Given the description of an element on the screen output the (x, y) to click on. 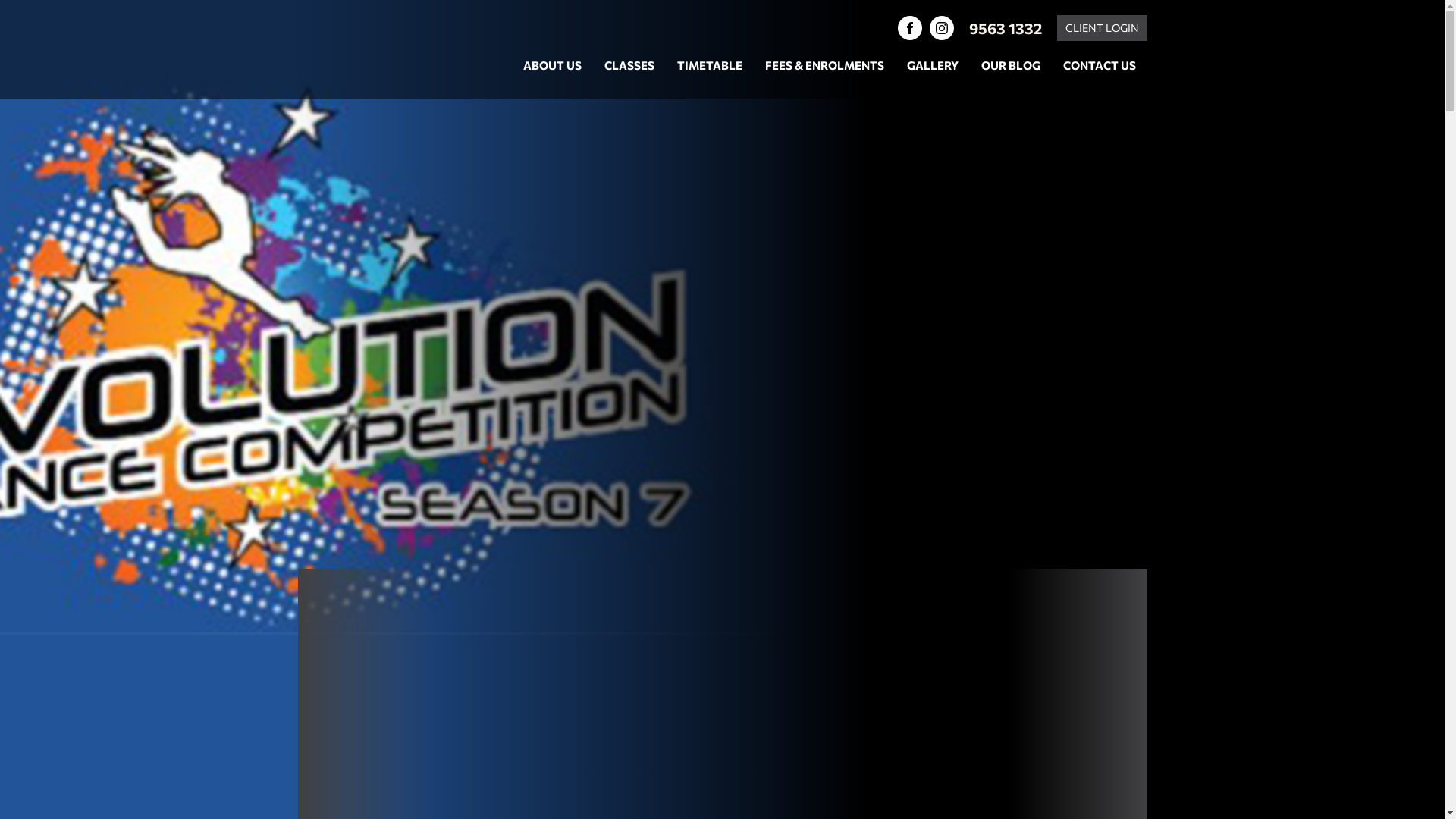
ENQUIRE NOW Element type: text (1089, 436)
CLASSES Element type: text (629, 65)
ABOUT US Element type: text (551, 65)
TIMETABLE Element type: text (709, 65)
FEES & ENROLMENTS Element type: text (824, 65)
GALLERY Element type: text (931, 65)
OUR BLOG Element type: text (1009, 65)
CONTACT US Element type: text (1098, 65)
CLIENT LOGIN Element type: text (1102, 27)
TROUPES Element type: text (372, 682)
9563 1332 Element type: text (1005, 27)
